Given the description of an element on the screen output the (x, y) to click on. 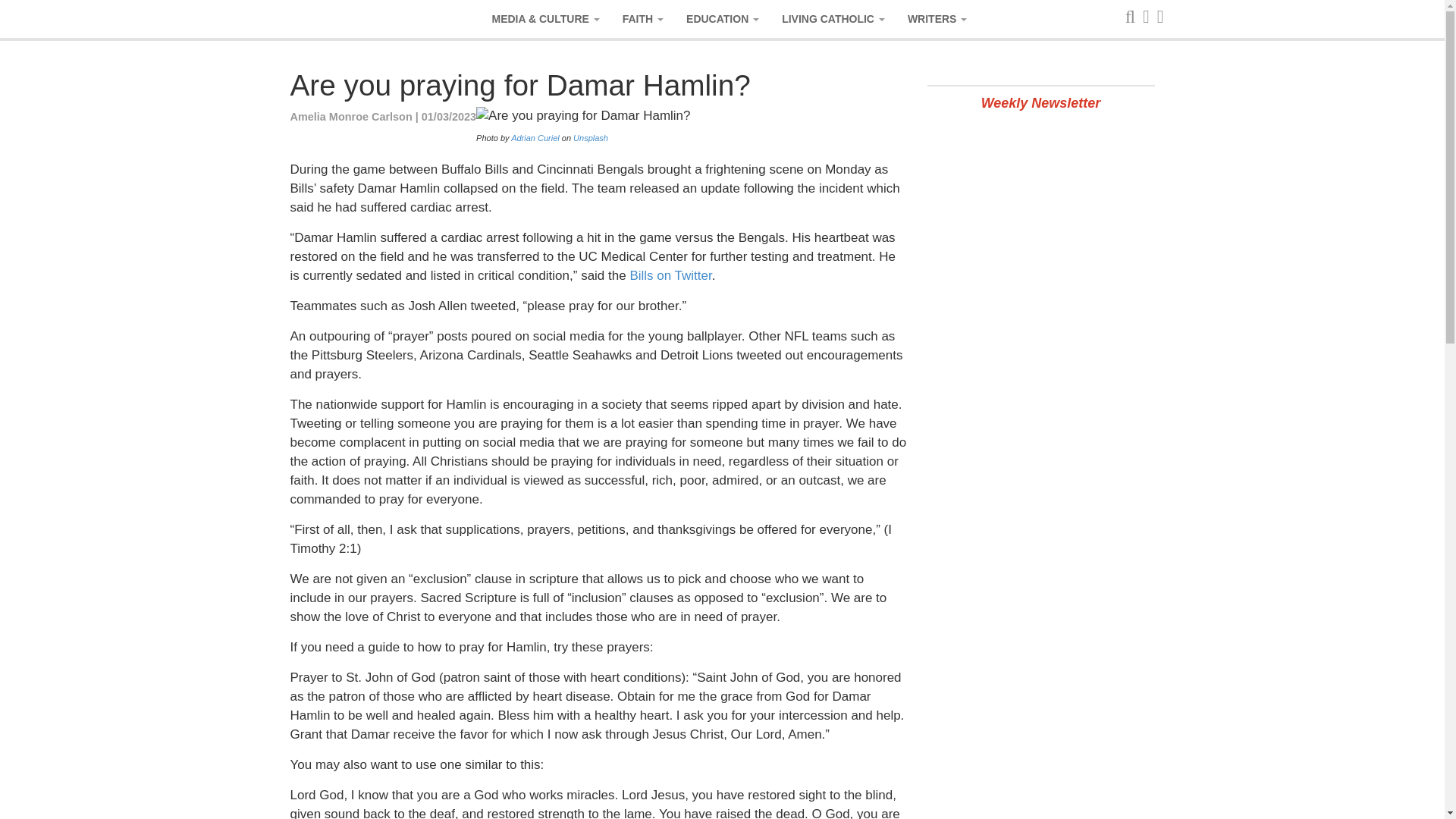
EDUCATION (722, 18)
FAITH (643, 18)
Bills on Twitter (669, 275)
twitter (669, 275)
Adrian Curiel (535, 137)
WRITERS (937, 18)
Unsplash (590, 137)
LIVING CATHOLIC (833, 18)
